Given the description of an element on the screen output the (x, y) to click on. 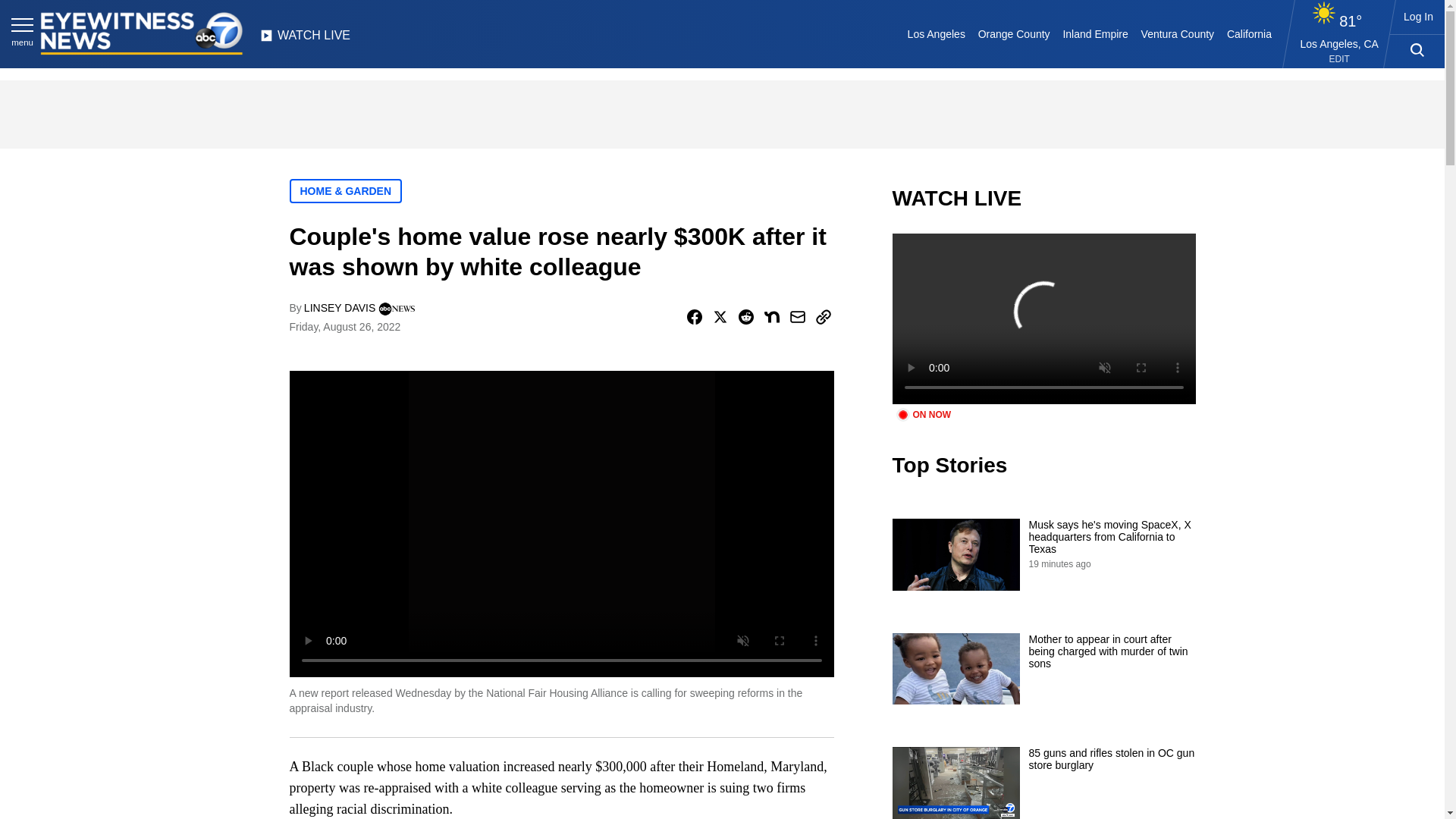
Los Angeles (936, 33)
California (1249, 33)
WATCH LIVE (305, 39)
Los Angeles, CA (1339, 43)
EDIT (1339, 59)
Orange County (1014, 33)
Inland Empire (1095, 33)
video.title (1043, 318)
Ventura County (1177, 33)
